Given the description of an element on the screen output the (x, y) to click on. 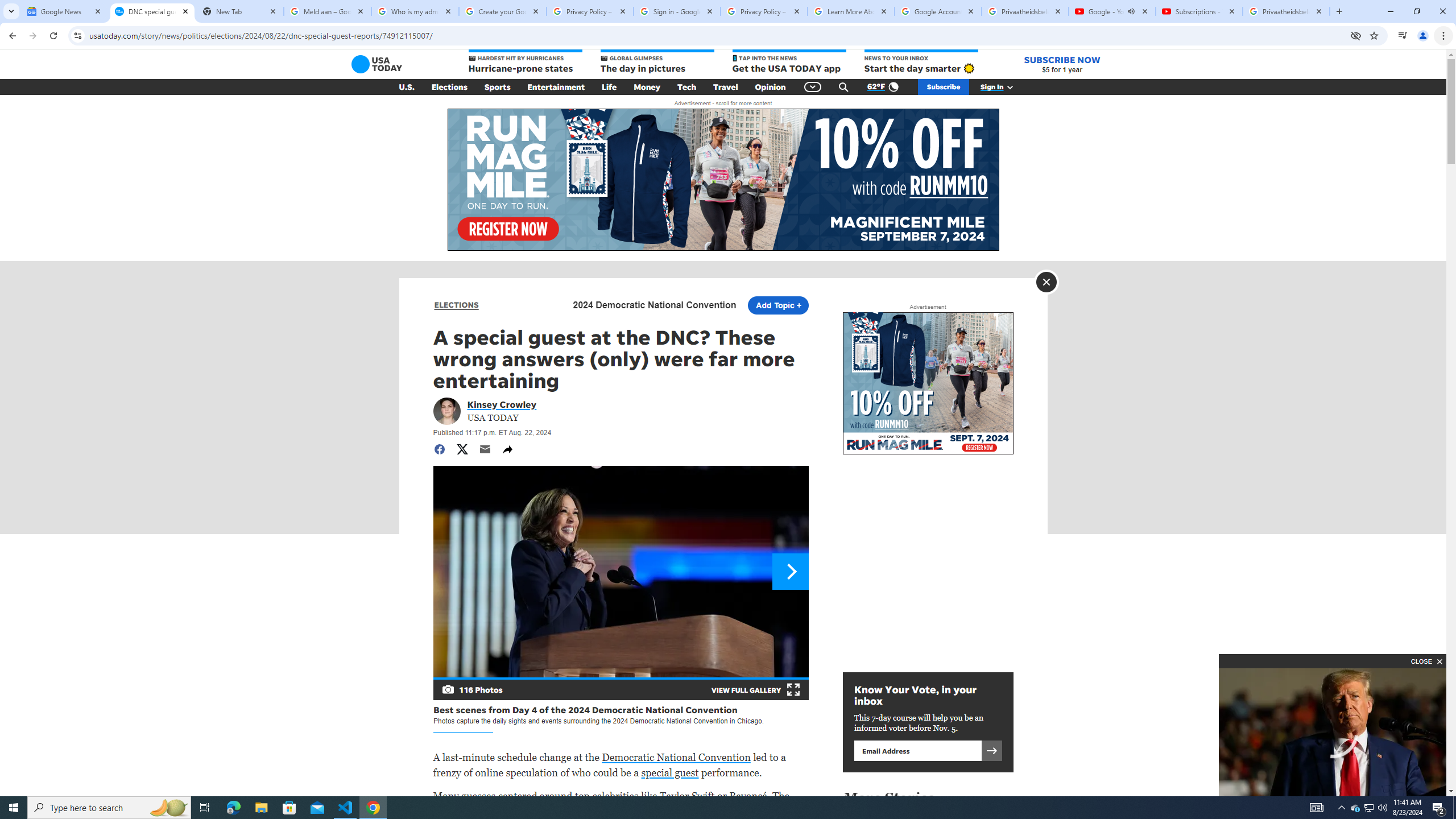
Google Account (938, 11)
Google - YouTube - Audio playing (1111, 11)
Tech (686, 87)
Portrait of Kinsey Crowley (446, 411)
Submit to sign up for newsletter (991, 750)
Close (1045, 281)
Bookmark this tab (1373, 35)
Add Topic (777, 305)
Travel (725, 87)
Reload (52, 35)
SUBSCRIBE NOW $5 for 1 year (1062, 64)
Entertainment (556, 87)
